Given the description of an element on the screen output the (x, y) to click on. 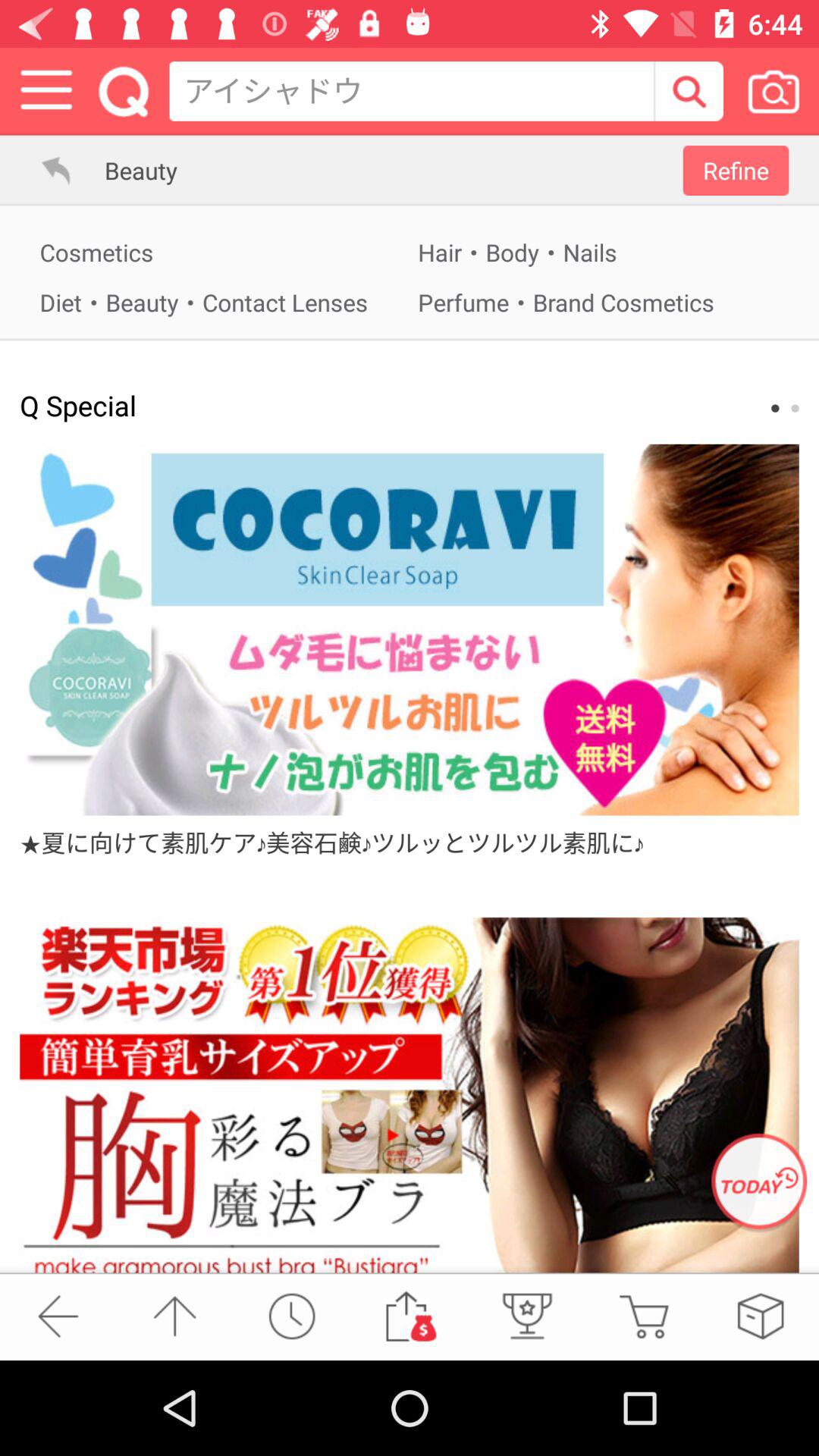
view article (409, 629)
